Given the description of an element on the screen output the (x, y) to click on. 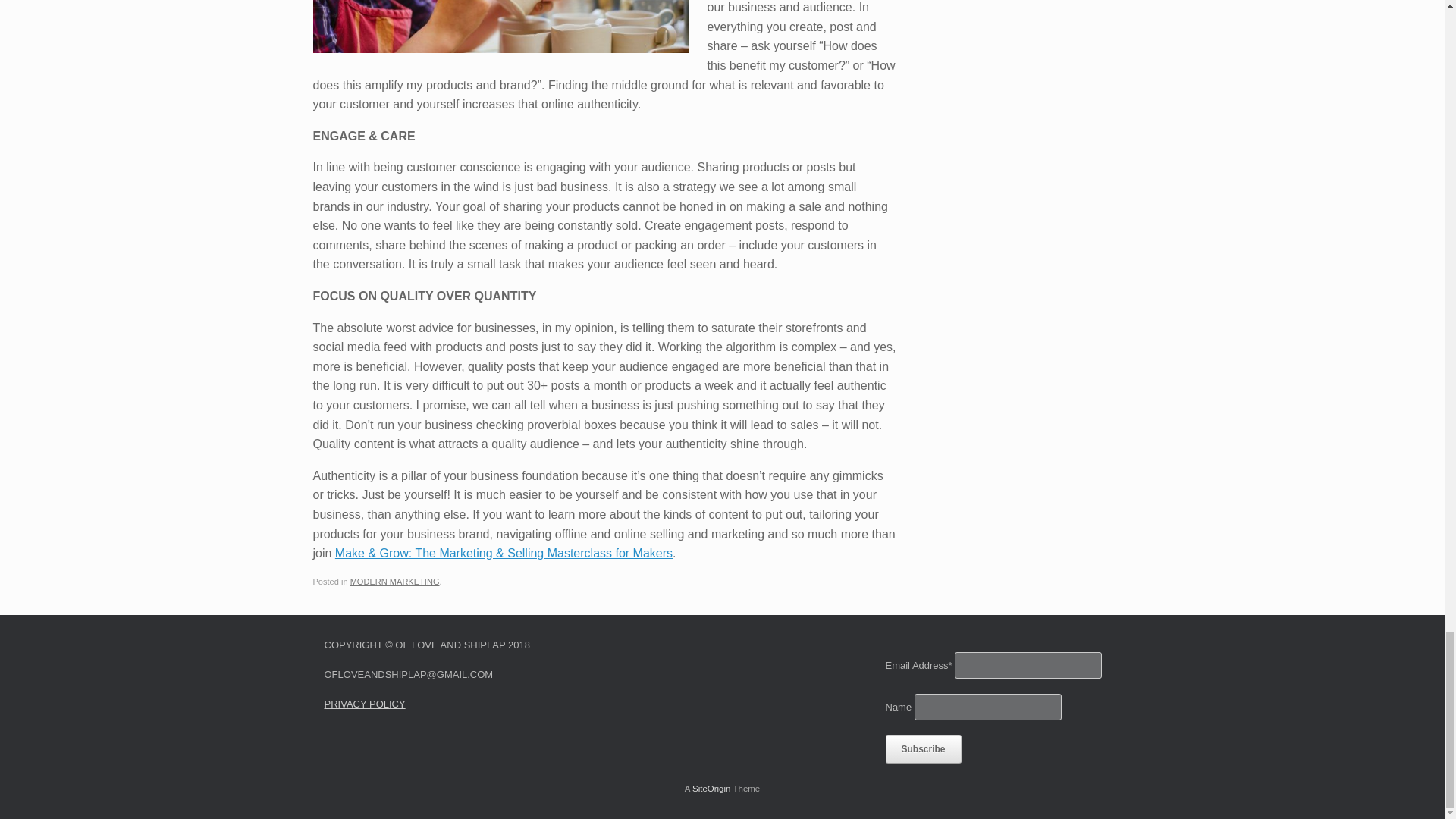
PRIVACY POLICY (365, 704)
Subscribe (922, 748)
MODERN MARKETING (394, 581)
Subscribe (922, 748)
